Given the description of an element on the screen output the (x, y) to click on. 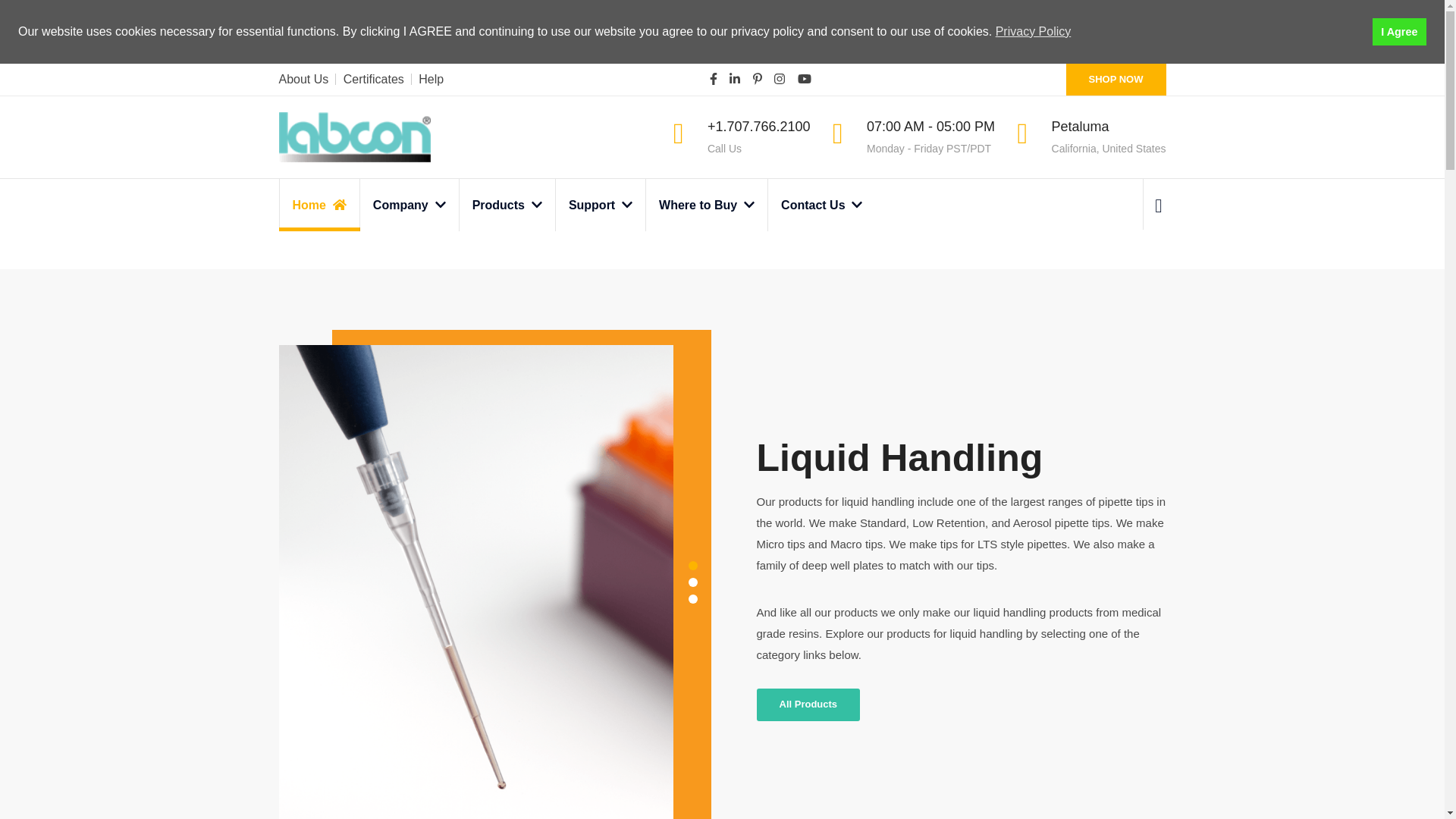
Help (431, 78)
Certificates (373, 78)
Company   (408, 204)
Products   (506, 204)
Privacy Policy (1033, 31)
About Us (304, 78)
I Agree (1399, 31)
Home   (319, 204)
SHOP NOW (1115, 79)
